Given the description of an element on the screen output the (x, y) to click on. 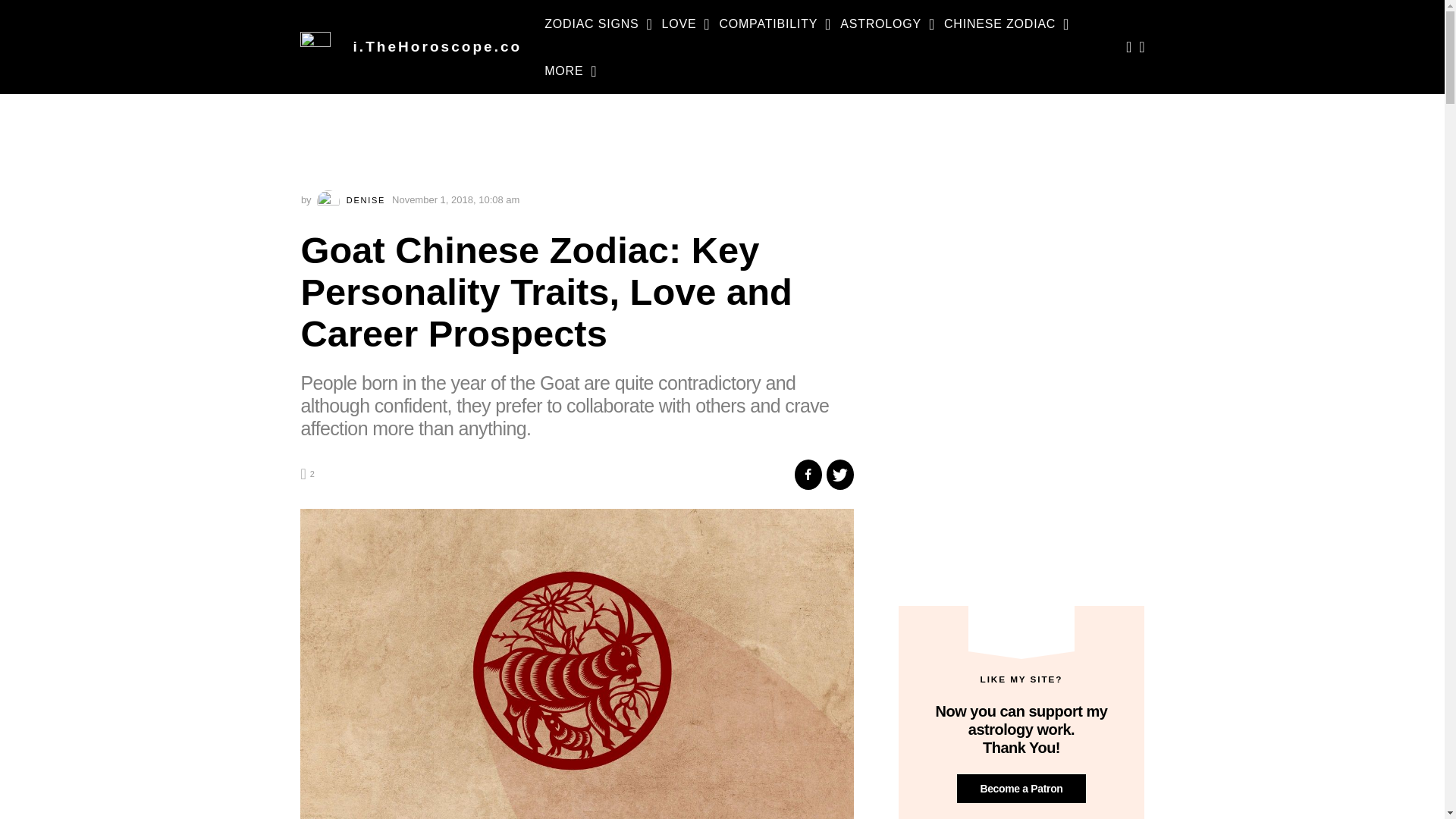
Posts by Denise (352, 199)
COMPATIBILITY (767, 23)
i.TheHoroscope.co (437, 46)
ZODIAC SIGNS (591, 23)
ASTROLOGY (880, 23)
